Given the description of an element on the screen output the (x, y) to click on. 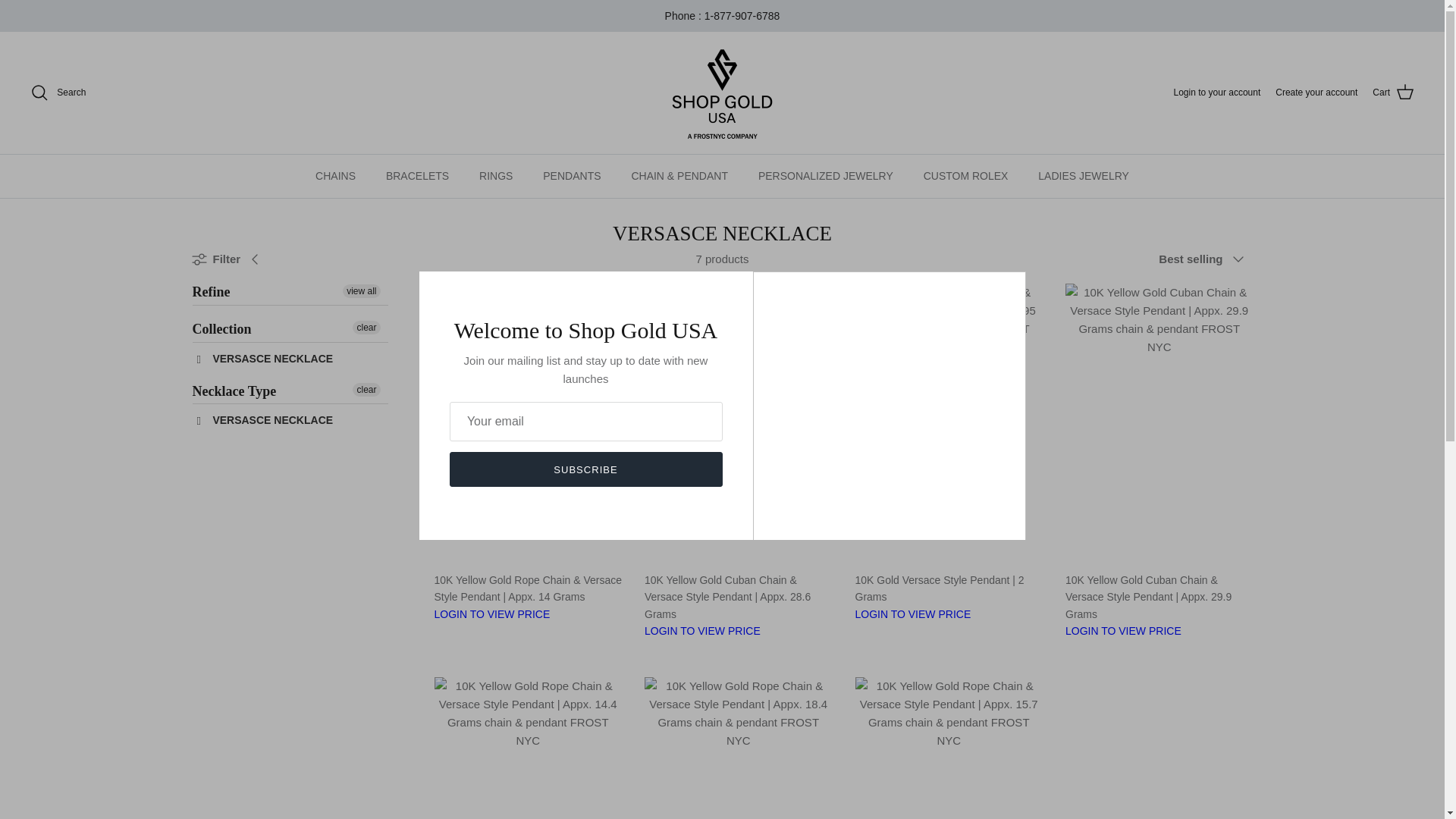
RINGS (495, 176)
Phone : 1-877-907-6788 (722, 15)
CHAINS (335, 176)
BRACELETS (290, 358)
Clear filter:  VERSASCE NECKLACE (417, 176)
Search (264, 358)
VERSASCE NECKLACE (57, 92)
Cart (290, 420)
tel:1-877-907-6788 (1393, 92)
SHOP GOLD USA (722, 15)
Login to your account (721, 92)
Create your account (1216, 92)
Clear filter:  VERSASCE NECKLACE (1315, 92)
